Given the description of an element on the screen output the (x, y) to click on. 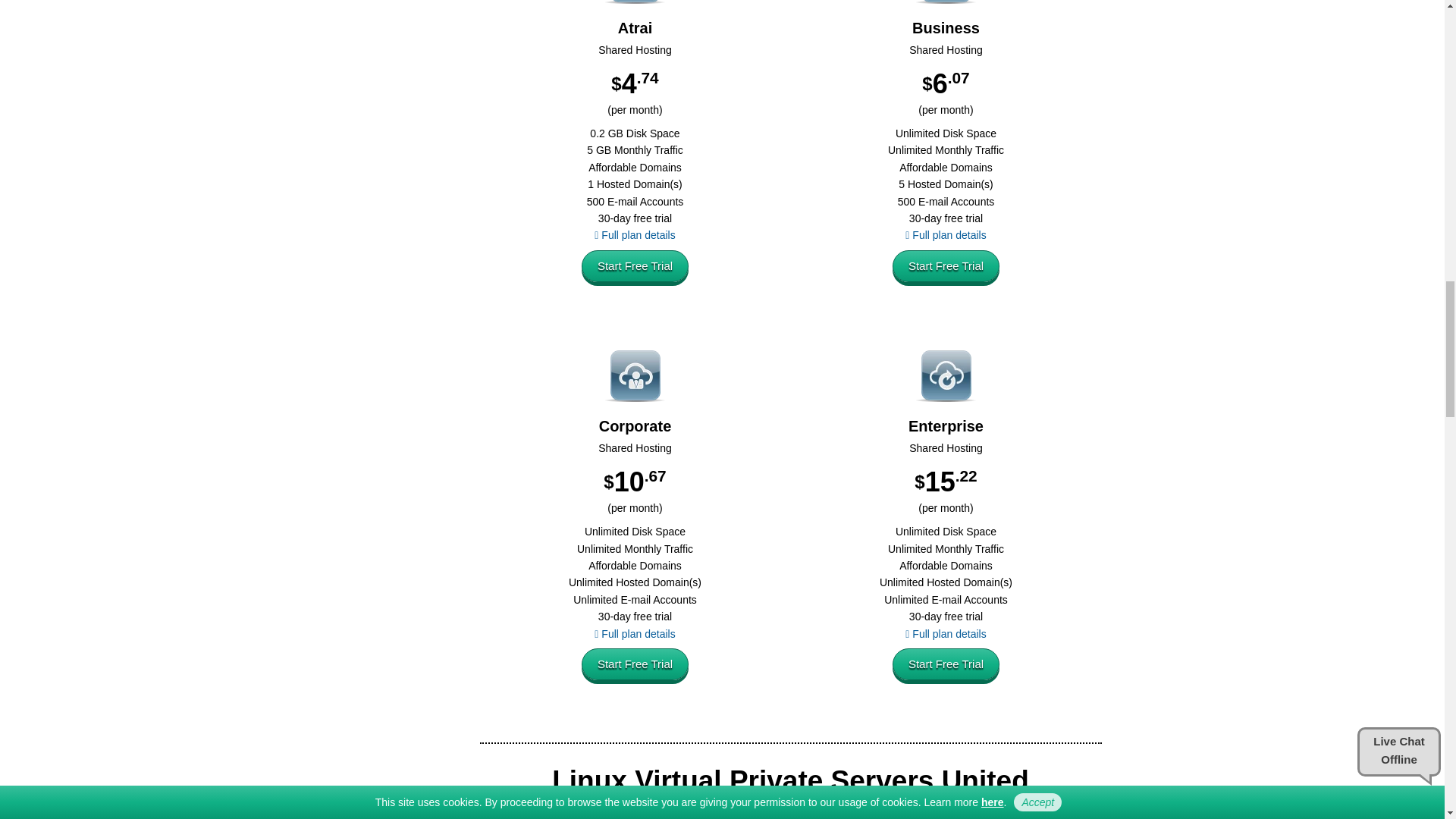
Corporate Shared Hosting Plan Details (634, 633)
Business Shared Hosting Plan Details (945, 234)
Atrai Shared Hosting Plan Details (634, 234)
Enterprise Shared Hosting Plan Details (945, 633)
